Given the description of an element on the screen output the (x, y) to click on. 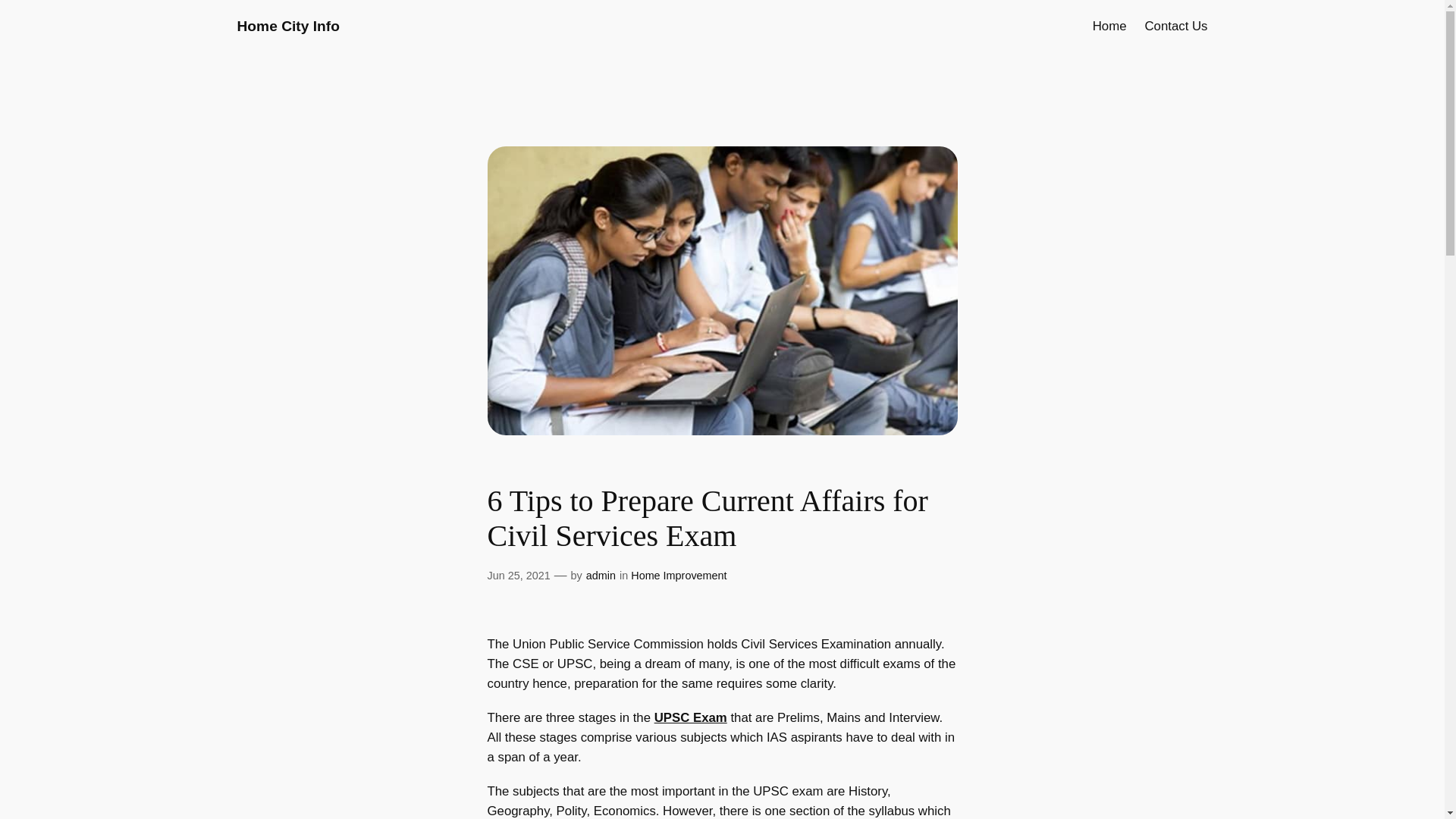
Contact Us (1175, 26)
admin (600, 575)
Home City Info (287, 26)
UPSC Exam (689, 717)
Jun 25, 2021 (518, 575)
Home (1109, 26)
Home Improvement (678, 575)
